Given the description of an element on the screen output the (x, y) to click on. 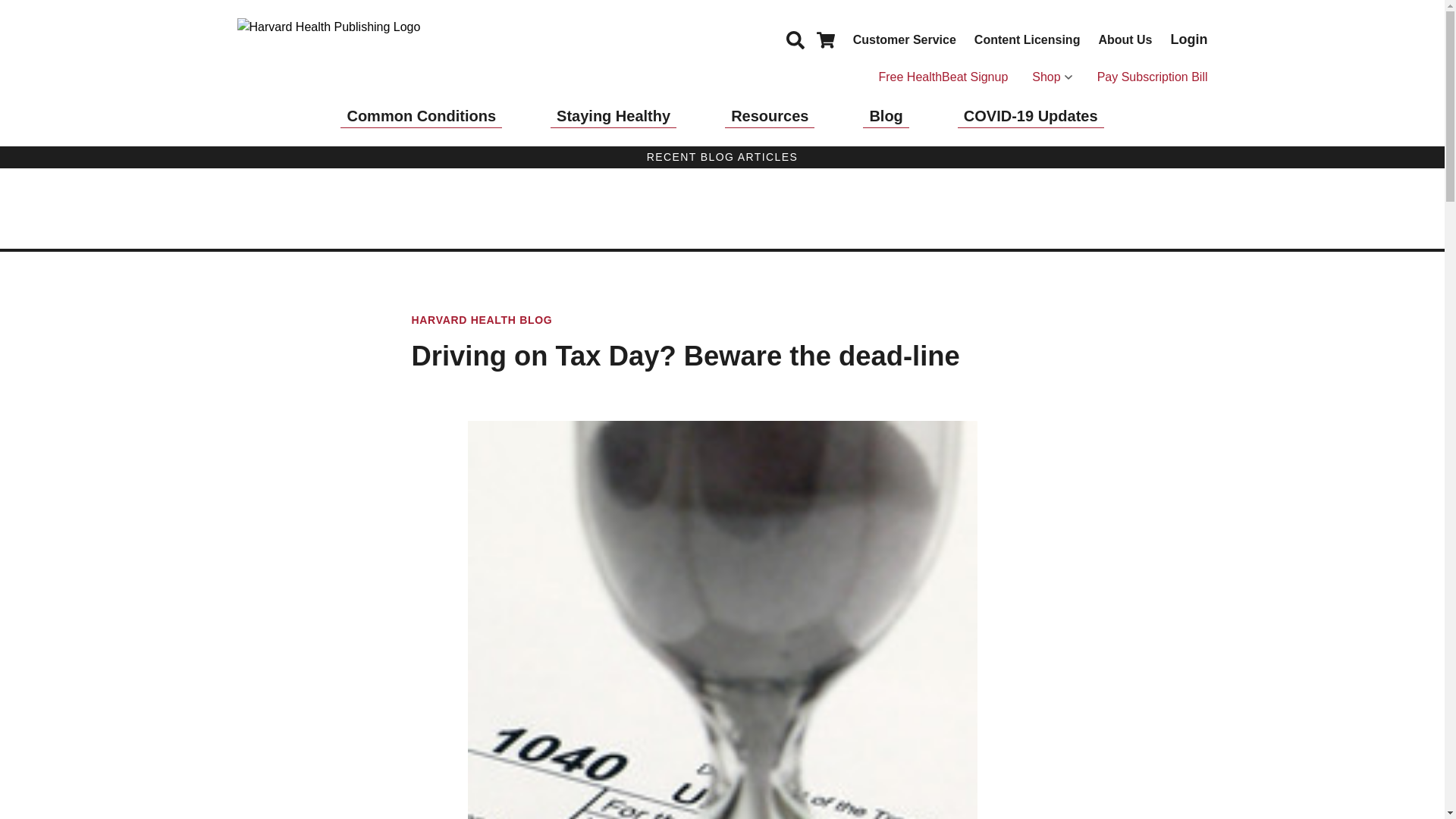
Staying Healthy (613, 115)
Content Licensing (1027, 39)
Customer Service (904, 39)
Common Conditions (421, 115)
Search (795, 39)
Resources (769, 115)
Blog (885, 115)
Free HealthBeat Signup (942, 76)
About Us (1124, 39)
COVID-19 Updates (1030, 115)
